Given the description of an element on the screen output the (x, y) to click on. 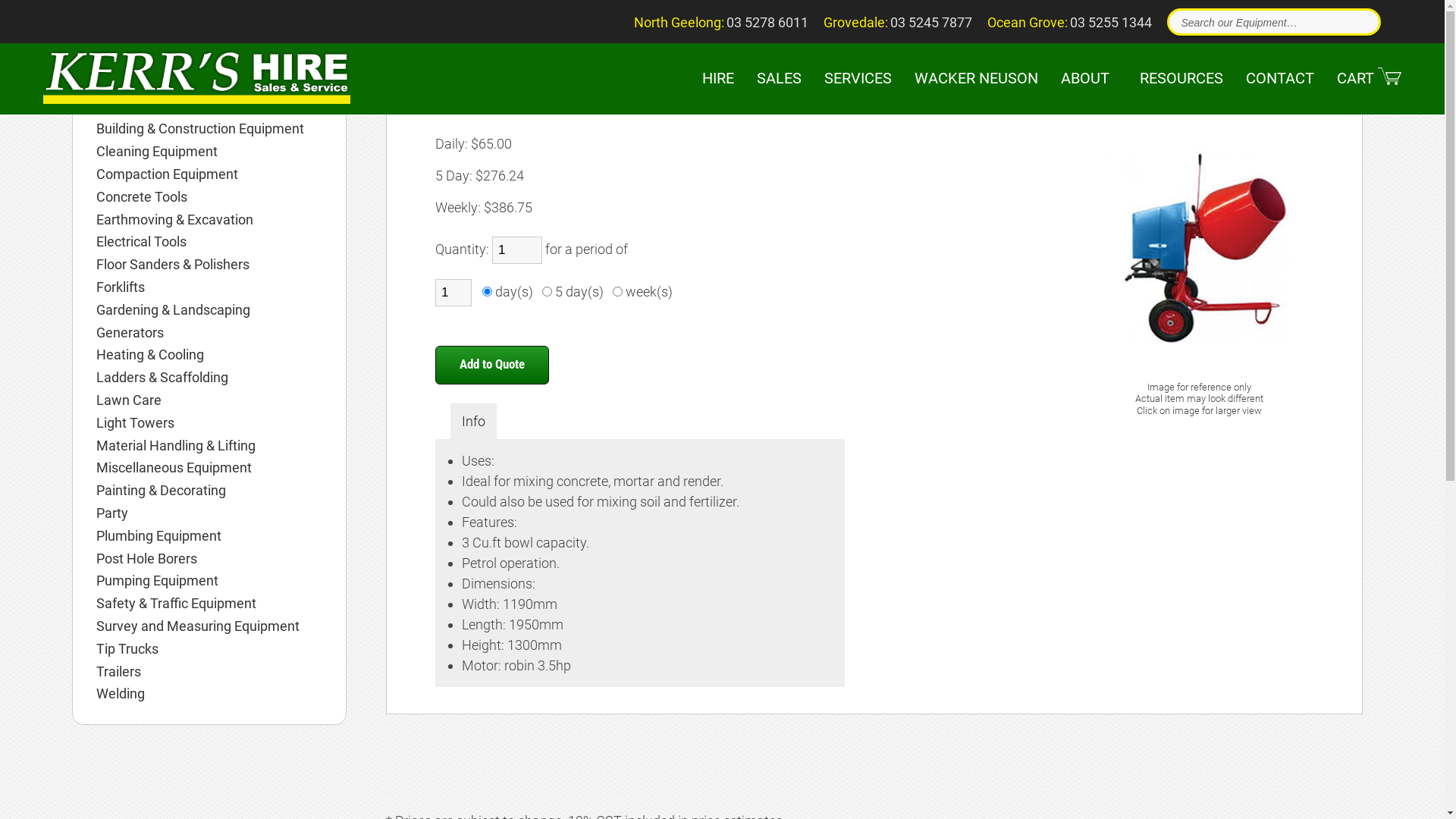
Post Hole Borers Element type: text (209, 558)
RESOURCES Element type: text (1177, 77)
HIRE Element type: text (718, 77)
SALES Element type: text (778, 77)
Cleaning Equipment Element type: text (209, 151)
Painting & Decorating Element type: text (209, 490)
Building & Construction Equipment Element type: text (209, 128)
Survey and Measuring Equipment Element type: text (209, 625)
Tip Trucks Element type: text (209, 648)
Earthmoving & Excavation Element type: text (209, 219)
03 5245 7877 Element type: text (931, 22)
Floor Sanders & Polishers Element type: text (209, 264)
Miscellaneous Equipment Element type: text (209, 467)
Compaction Equipment Element type: text (209, 174)
Material Handling & Lifting Element type: text (209, 445)
ABOUT Element type: text (1084, 77)
Concrete Mixing Element type: text (484, 65)
Ladders & Scaffolding Element type: text (209, 377)
Pumping Equipment Element type: text (209, 580)
WACKER NEUSON Element type: text (976, 77)
Electrical Tools Element type: text (209, 241)
Light Towers Element type: text (209, 422)
Party Element type: text (209, 512)
Lawn Care Element type: text (209, 399)
Plumbing Equipment Element type: text (209, 535)
Safety & Traffic Equipment Element type: text (209, 603)
CART Element type: text (1368, 77)
Heating & Cooling Element type: text (209, 354)
Gardening & Landscaping Element type: text (209, 309)
Concrete Tools Element type: text (209, 196)
Forklifts Element type: text (209, 286)
Generators Element type: text (209, 332)
Add to Quote Element type: text (492, 364)
Trailers Element type: text (209, 671)
Access Equipment Element type: text (209, 61)
Air Compressors & Tools Element type: text (209, 83)
03 5255 1344 Element type: text (1110, 22)
03 5278 6011 Element type: text (767, 22)
SERVICES Element type: text (857, 77)
CONTACT Element type: text (1279, 77)
Breakers / Jackhammers Element type: text (209, 106)
Welding Element type: text (209, 693)
